Given the description of an element on the screen output the (x, y) to click on. 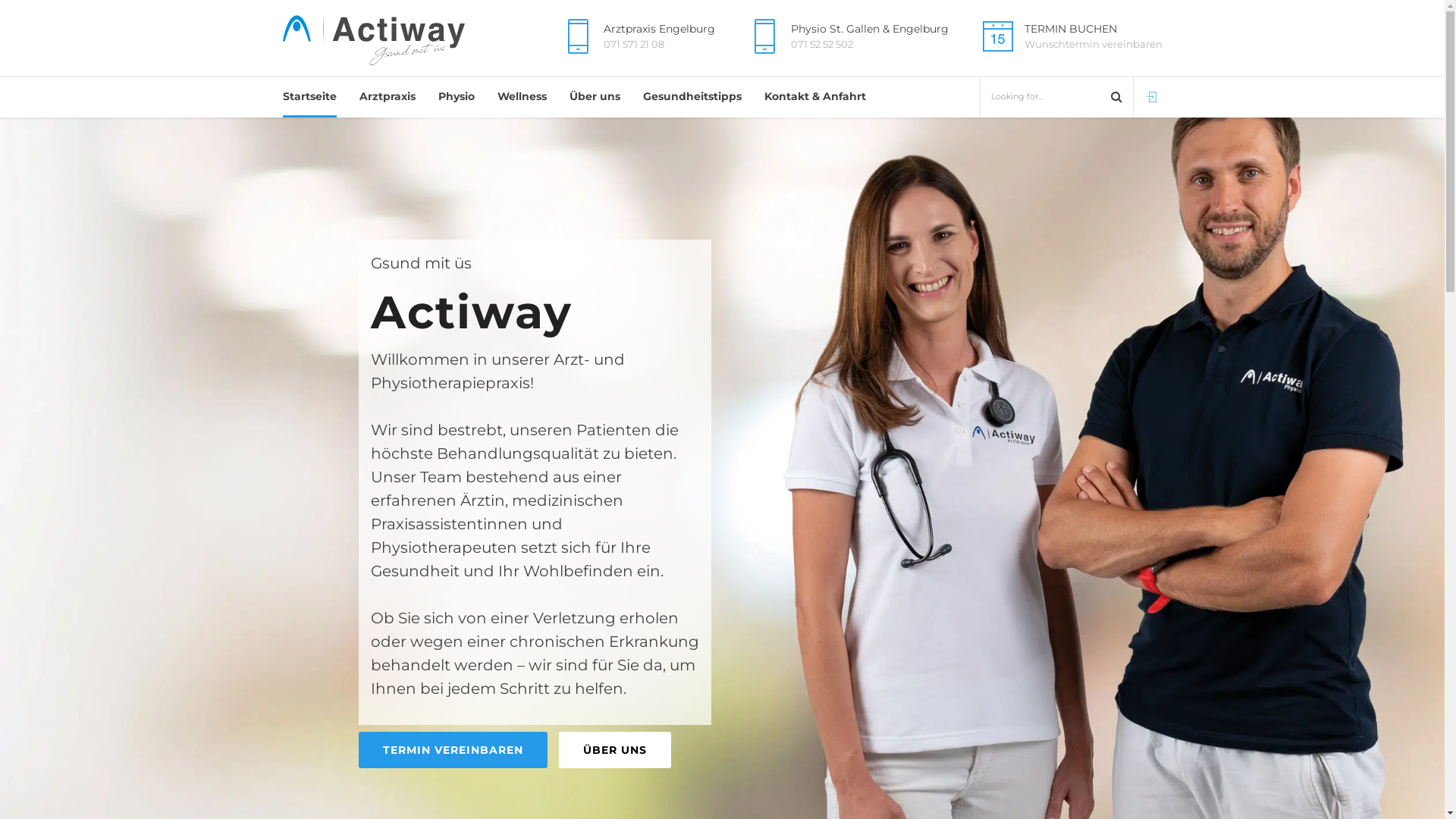
Physio Element type: text (456, 96)
TERMIN VEREINBAREN Element type: text (451, 749)
Gesundheitstipps Element type: text (692, 96)
Kontakt & Anfahrt Element type: text (815, 96)
Physio St. Gallen & Engelburg
071 52 52 502 Element type: text (844, 36)
TERMIN BUCHEN
Wunschtermin vereinbaren Element type: text (1068, 36)
Startseite Element type: text (308, 96)
Arztpraxis Element type: text (387, 96)
Wellness Element type: text (521, 96)
Arztpraxis Engelburg
071 571 21 08 Element type: text (635, 36)
